Given the description of an element on the screen output the (x, y) to click on. 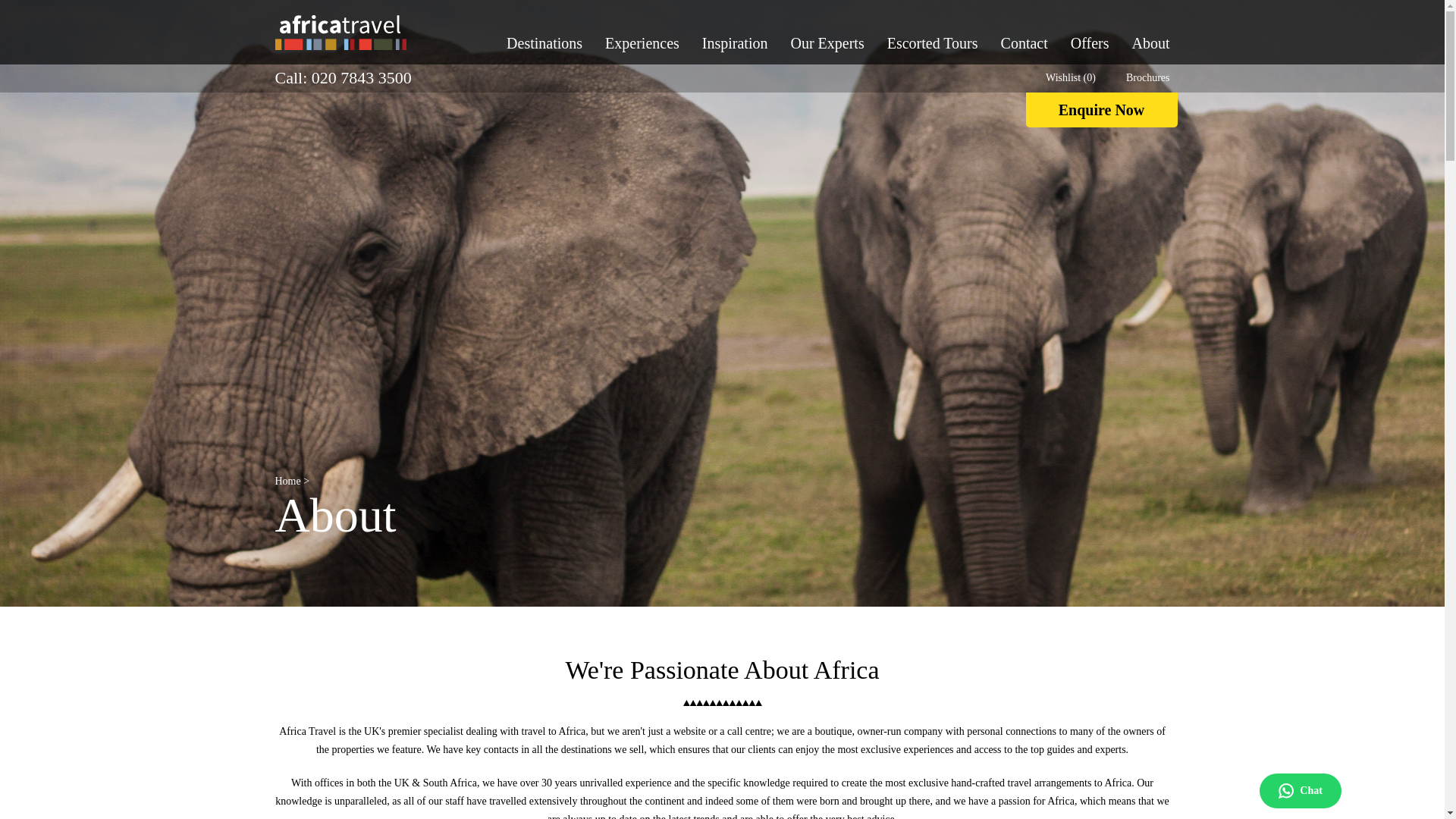
Enquire Now (1100, 109)
Inspiration (734, 43)
Experiences (642, 43)
Home (287, 480)
Offers (1089, 43)
Destinations (544, 43)
About (1150, 43)
Opens a widget where you can chat to one of our agents (1386, 792)
Our Experts (826, 43)
Brochures (1147, 77)
Contact (1024, 43)
Escorted Tours (932, 43)
